Given the description of an element on the screen output the (x, y) to click on. 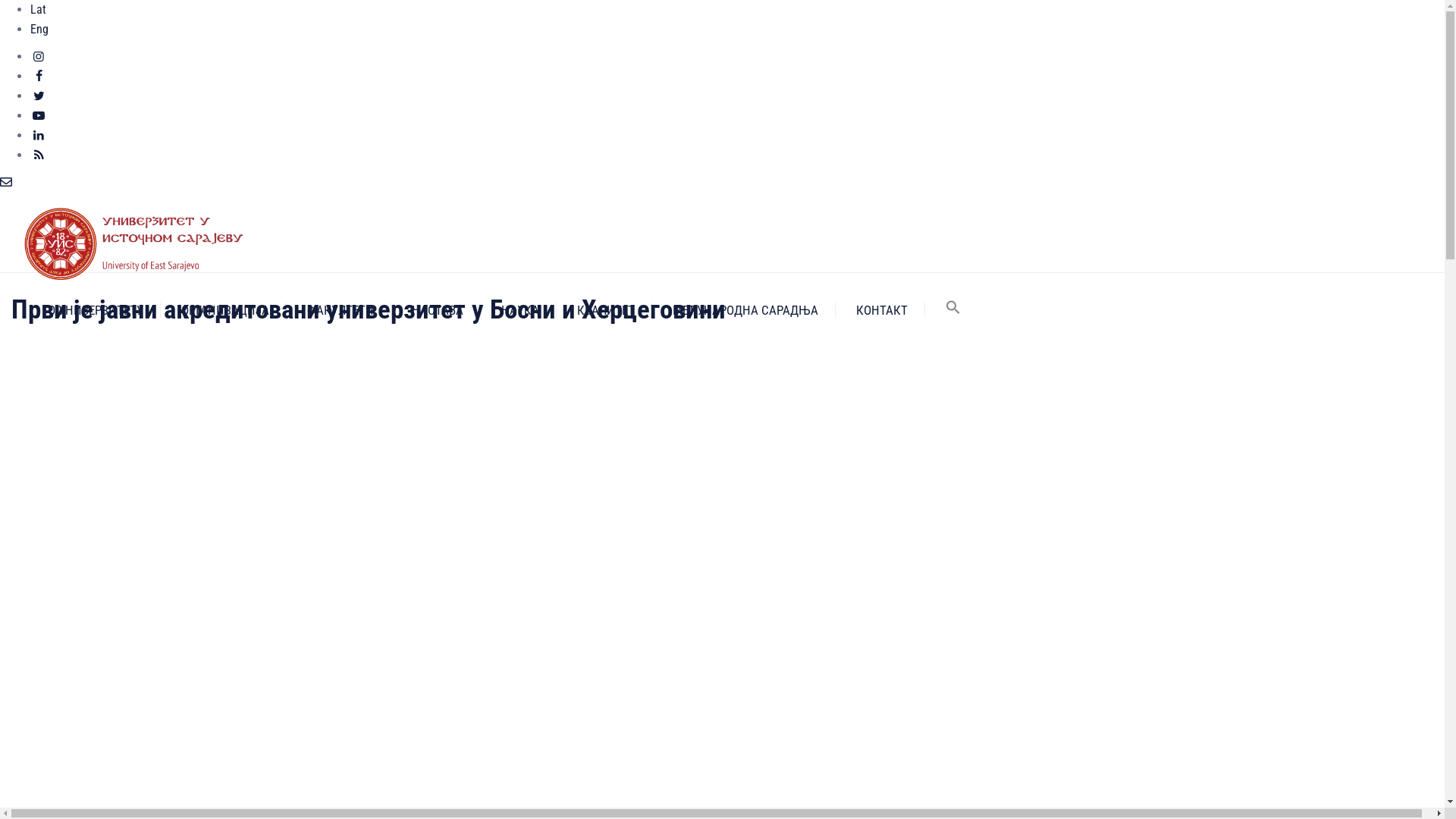
Lat Element type: text (38, 9)
Eng Element type: text (39, 28)
